Given the description of an element on the screen output the (x, y) to click on. 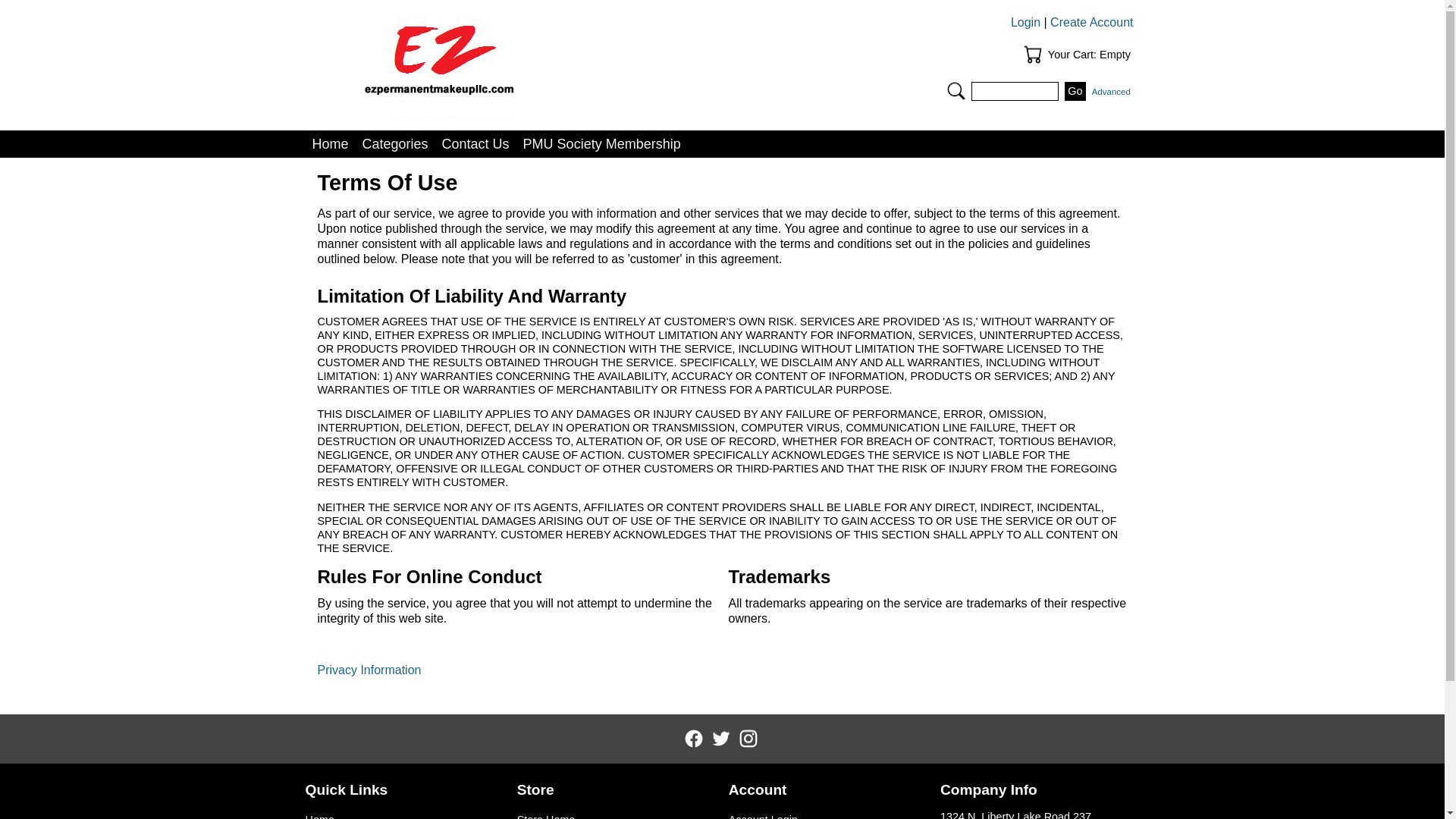
Home (329, 144)
Home (516, 62)
Search (955, 90)
Search (1014, 90)
Home (403, 814)
Go (1075, 90)
Advanced (1111, 91)
Categories (395, 144)
Create Account (1090, 21)
Go (1075, 90)
Search (955, 90)
Advanced Search (1111, 91)
Login (1025, 21)
Instagram (747, 738)
PMU Society Membership (601, 144)
